Given the description of an element on the screen output the (x, y) to click on. 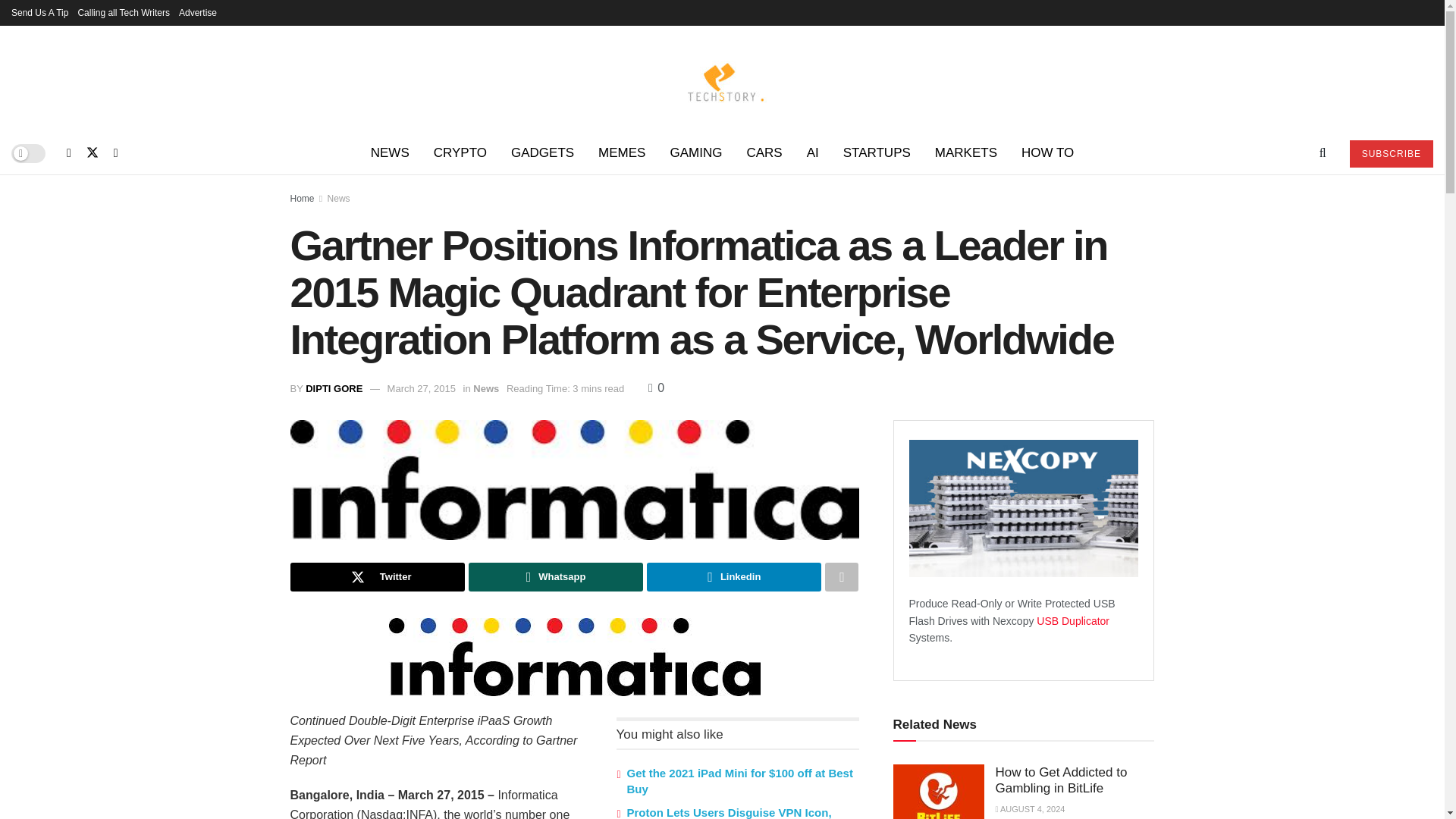
GAMING (695, 152)
Send Us A Tip (39, 12)
NEWS (390, 152)
Home (301, 198)
STARTUPS (877, 152)
USB duplicator (1072, 621)
Advertise (197, 12)
GADGETS (542, 152)
SUBSCRIBE (1390, 153)
MEMES (622, 152)
